Given the description of an element on the screen output the (x, y) to click on. 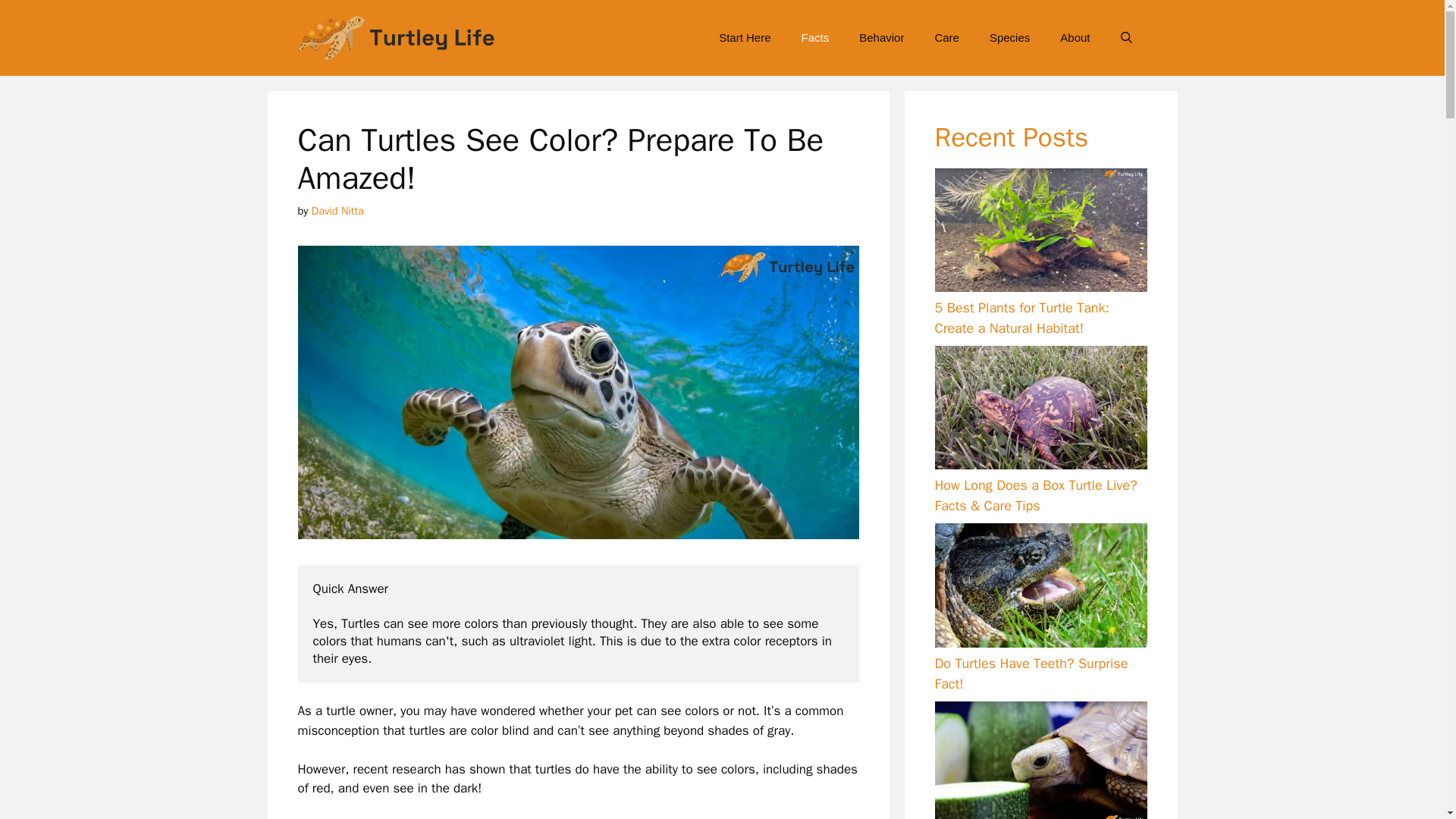
Care (946, 37)
5 Best Plants for Turtle Tank: Create a Natural Habitat! (1021, 317)
Facts (815, 37)
Do Turtles Have Teeth? Surprise Fact! (1030, 673)
Behavior (881, 37)
About (1075, 37)
Species (1009, 37)
Start Here (744, 37)
View all posts by David Nitta (337, 210)
David Nitta (337, 210)
